Given the description of an element on the screen output the (x, y) to click on. 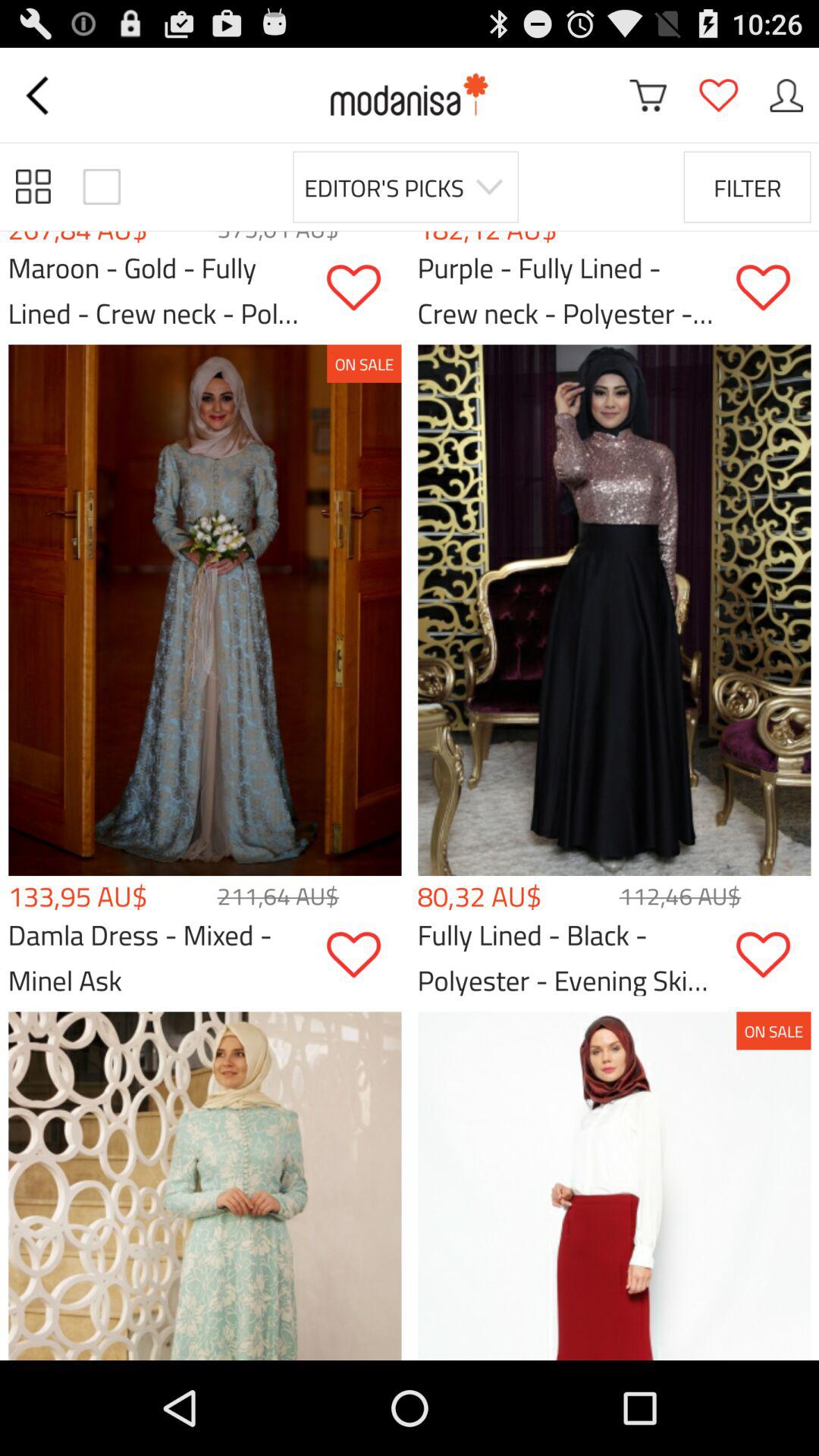
love item (363, 954)
